Given the description of an element on the screen output the (x, y) to click on. 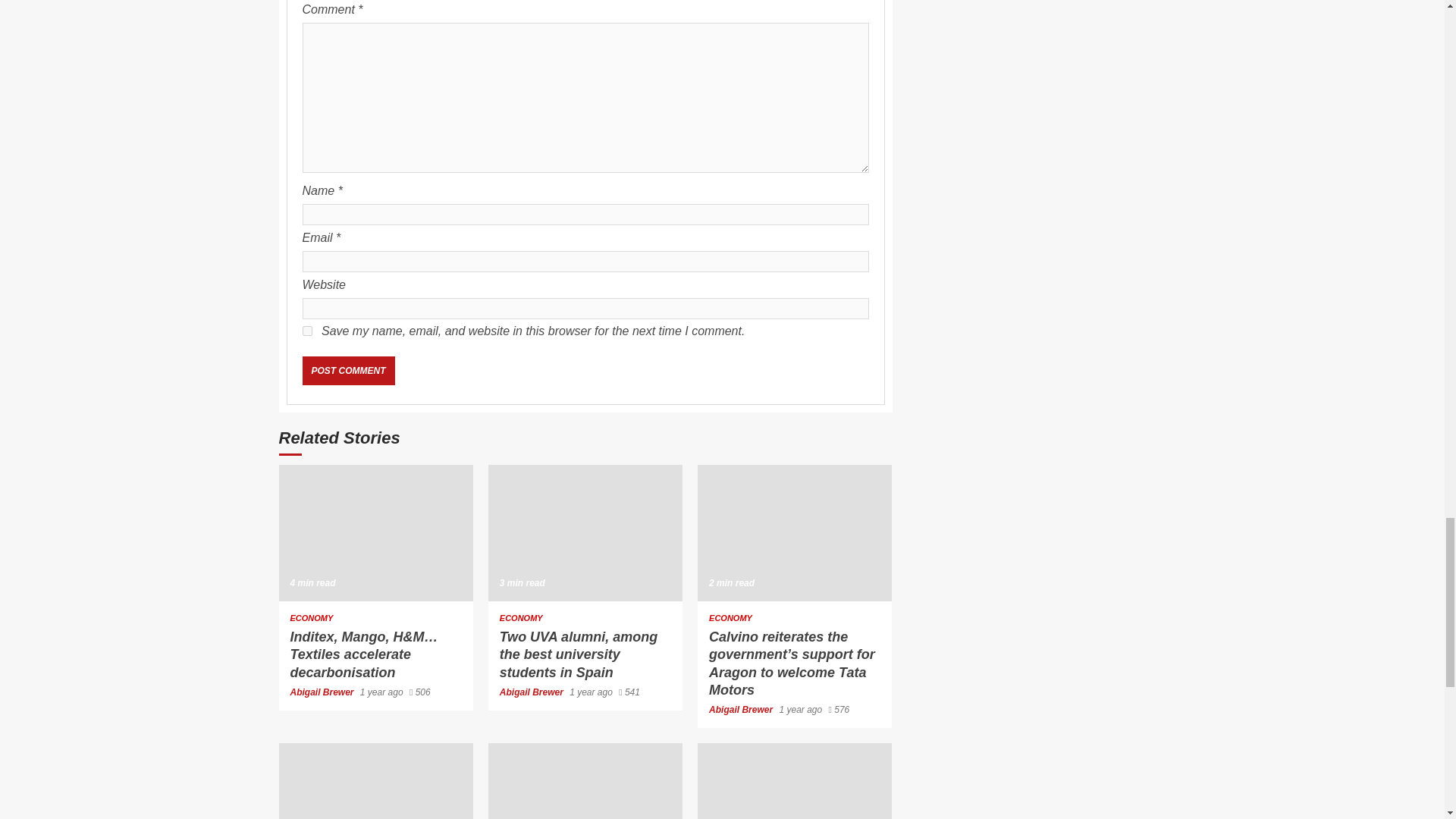
ECONOMY (521, 618)
Abigail Brewer (532, 692)
Abigail Brewer (741, 709)
Abigail Brewer (322, 692)
Two UVA alumni, among the best university students in Spain (578, 654)
ECONOMY (730, 618)
Post Comment (347, 370)
ECONOMY (311, 618)
Two UVA alumni, among the best university students in Spain (584, 533)
yes (306, 330)
Post Comment (347, 370)
541 (629, 692)
506 (419, 692)
